Given the description of an element on the screen output the (x, y) to click on. 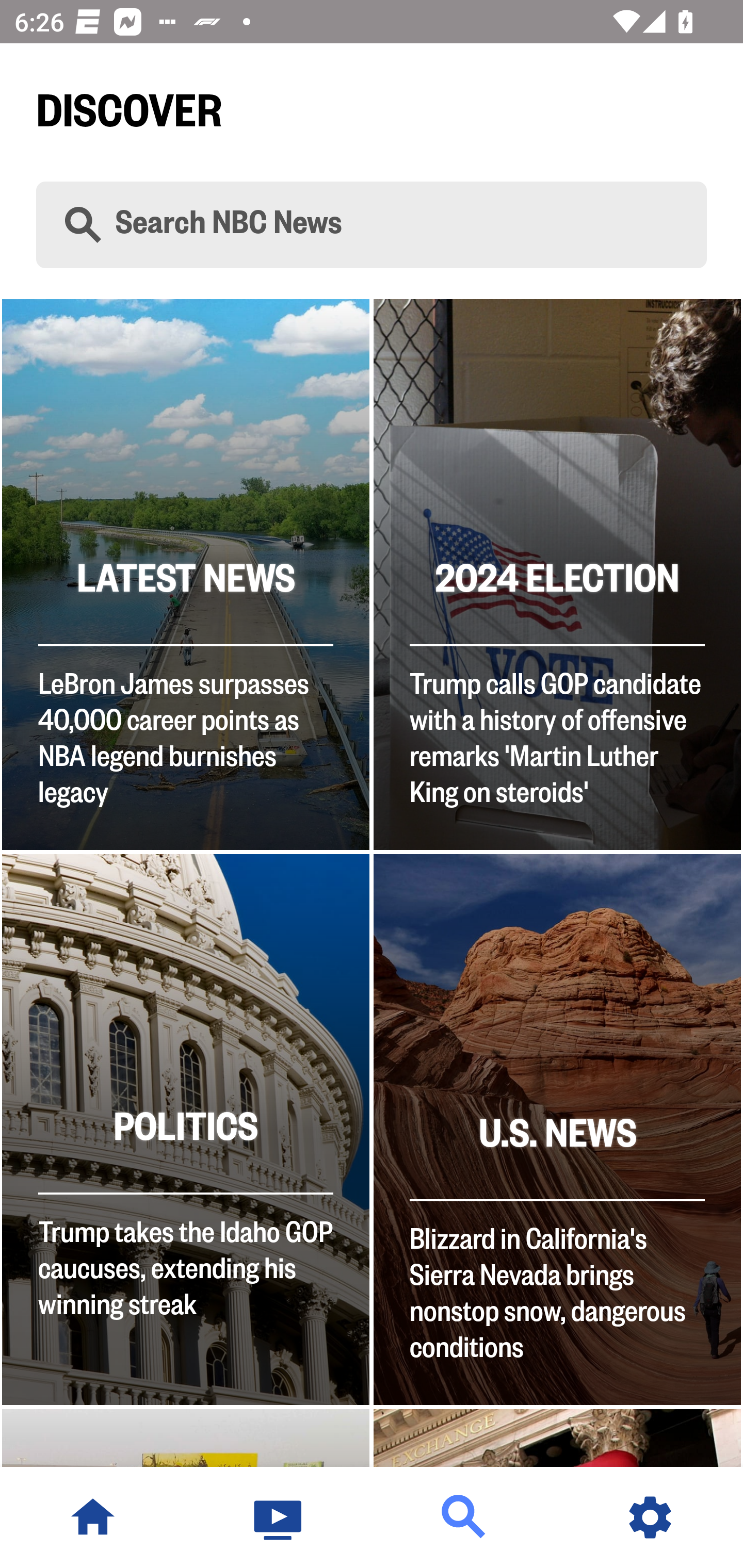
NBC News Home (92, 1517)
Watch (278, 1517)
Settings (650, 1517)
